Given the description of an element on the screen output the (x, y) to click on. 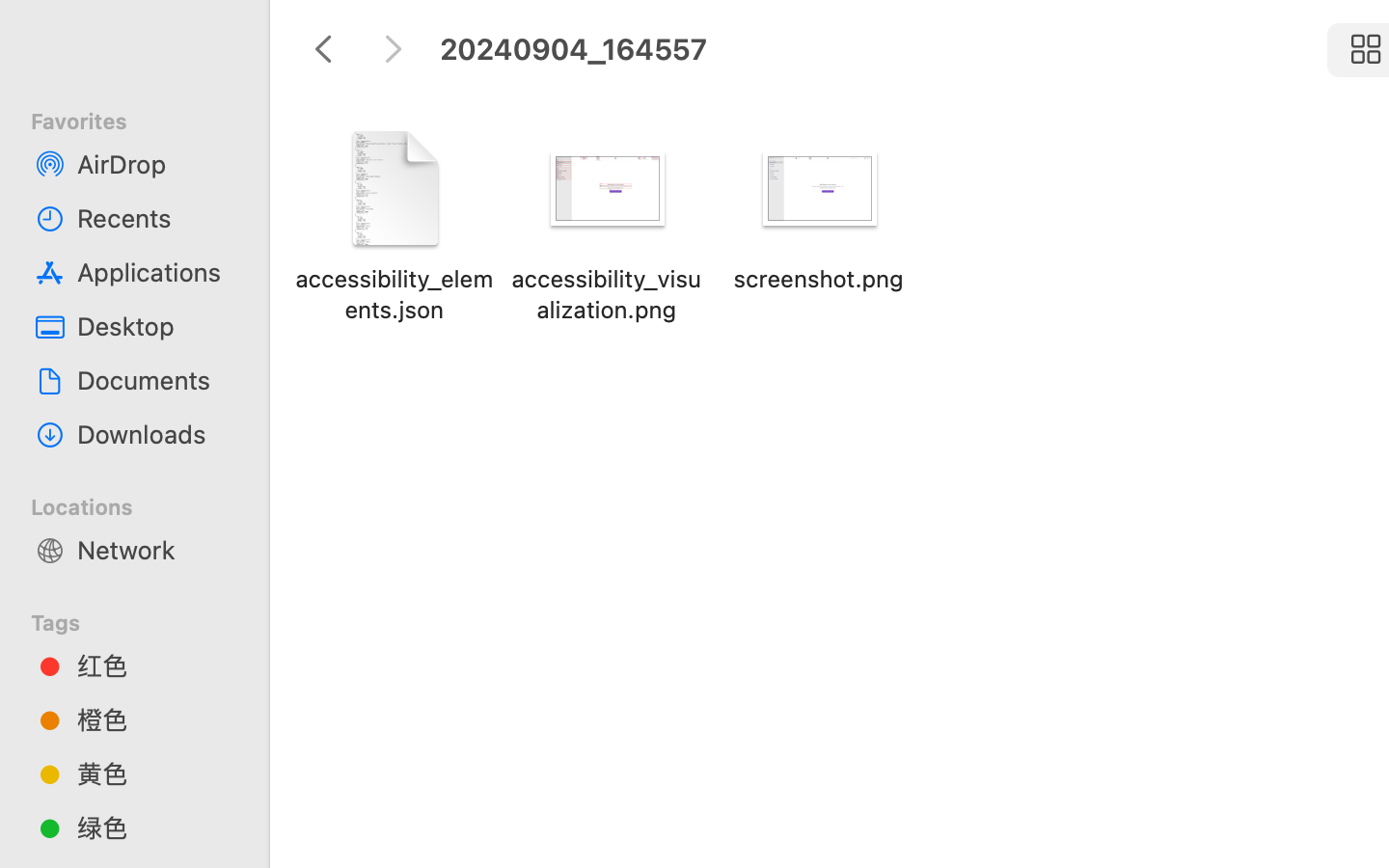
Tags Element type: AXStaticText (145, 619)
Desktop Element type: AXStaticText (155, 325)
AirDrop Element type: AXStaticText (155, 163)
绿色 Element type: AXStaticText (155, 827)
Applications Element type: AXStaticText (155, 271)
